Given the description of an element on the screen output the (x, y) to click on. 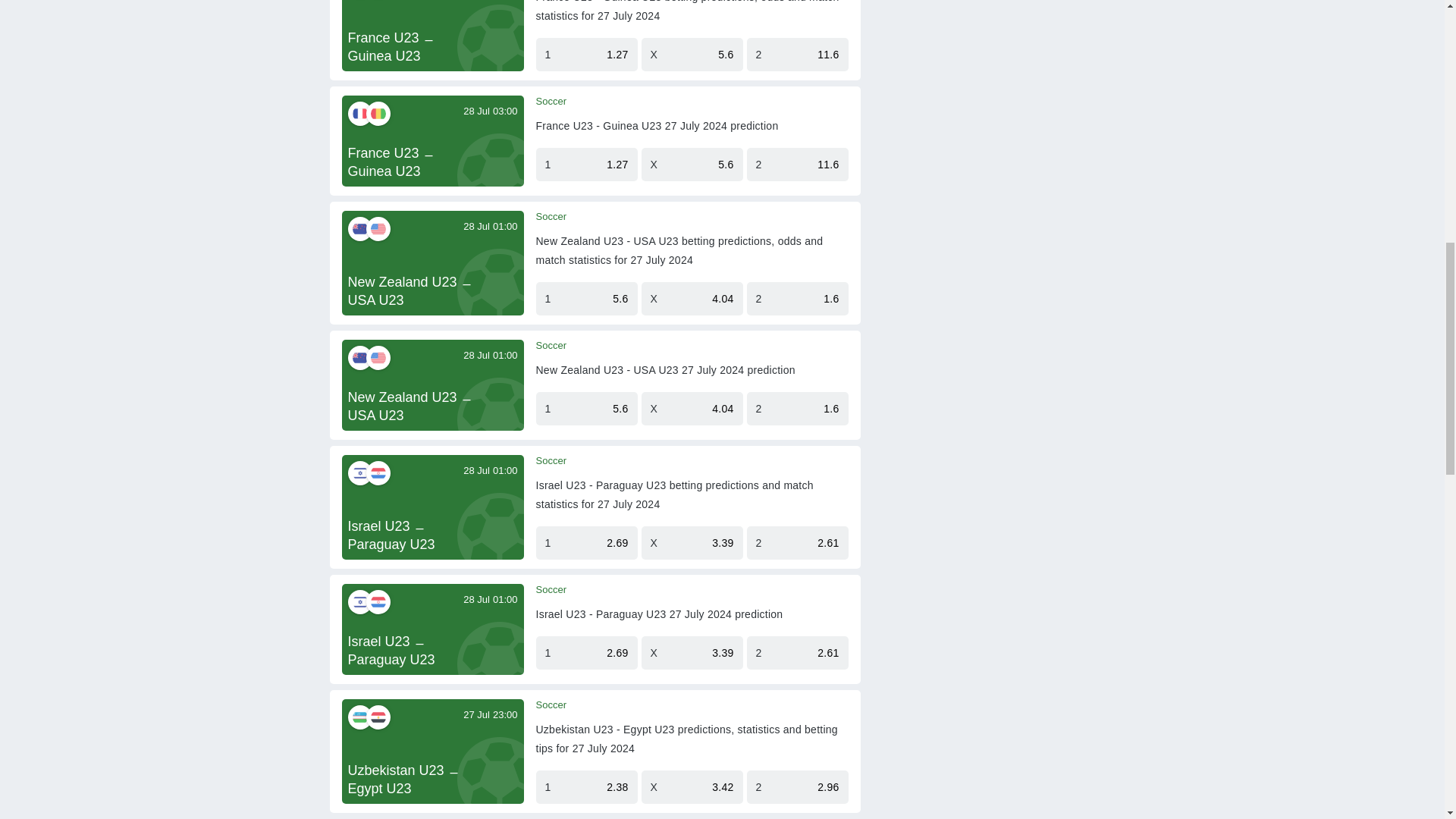
Soccer (550, 216)
Soccer (550, 345)
France U23 - Guinea U23 27 July 2024 prediction (656, 126)
Soccer (550, 101)
